Given the description of an element on the screen output the (x, y) to click on. 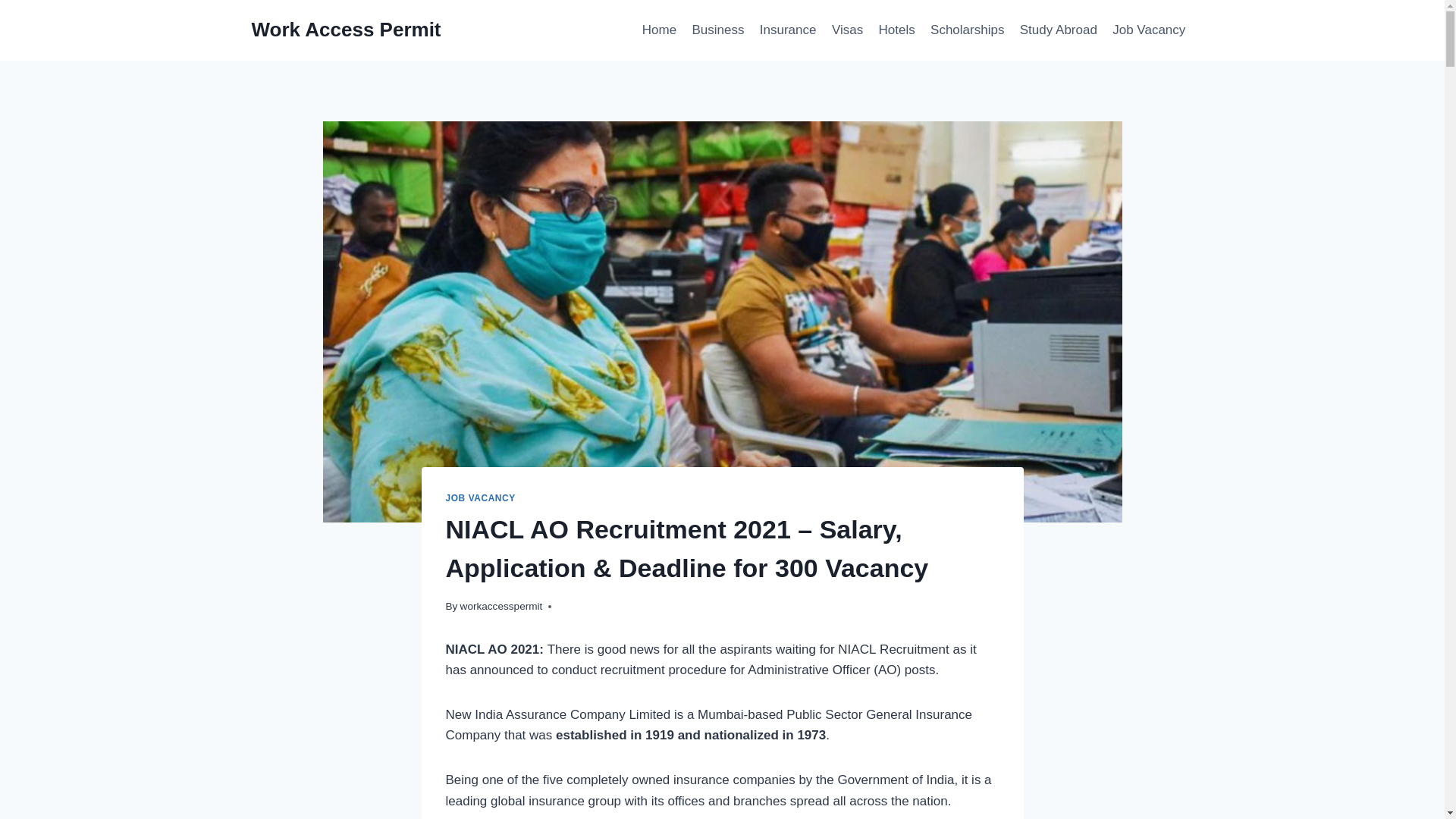
Work Access Permit (346, 29)
Business (717, 30)
Visas (847, 30)
Study Abroad (1058, 30)
Home (659, 30)
Job Vacancy (1148, 30)
workaccesspermit (501, 605)
Insurance (788, 30)
Scholarships (967, 30)
Hotels (896, 30)
JOB VACANCY (480, 498)
